Given the description of an element on the screen output the (x, y) to click on. 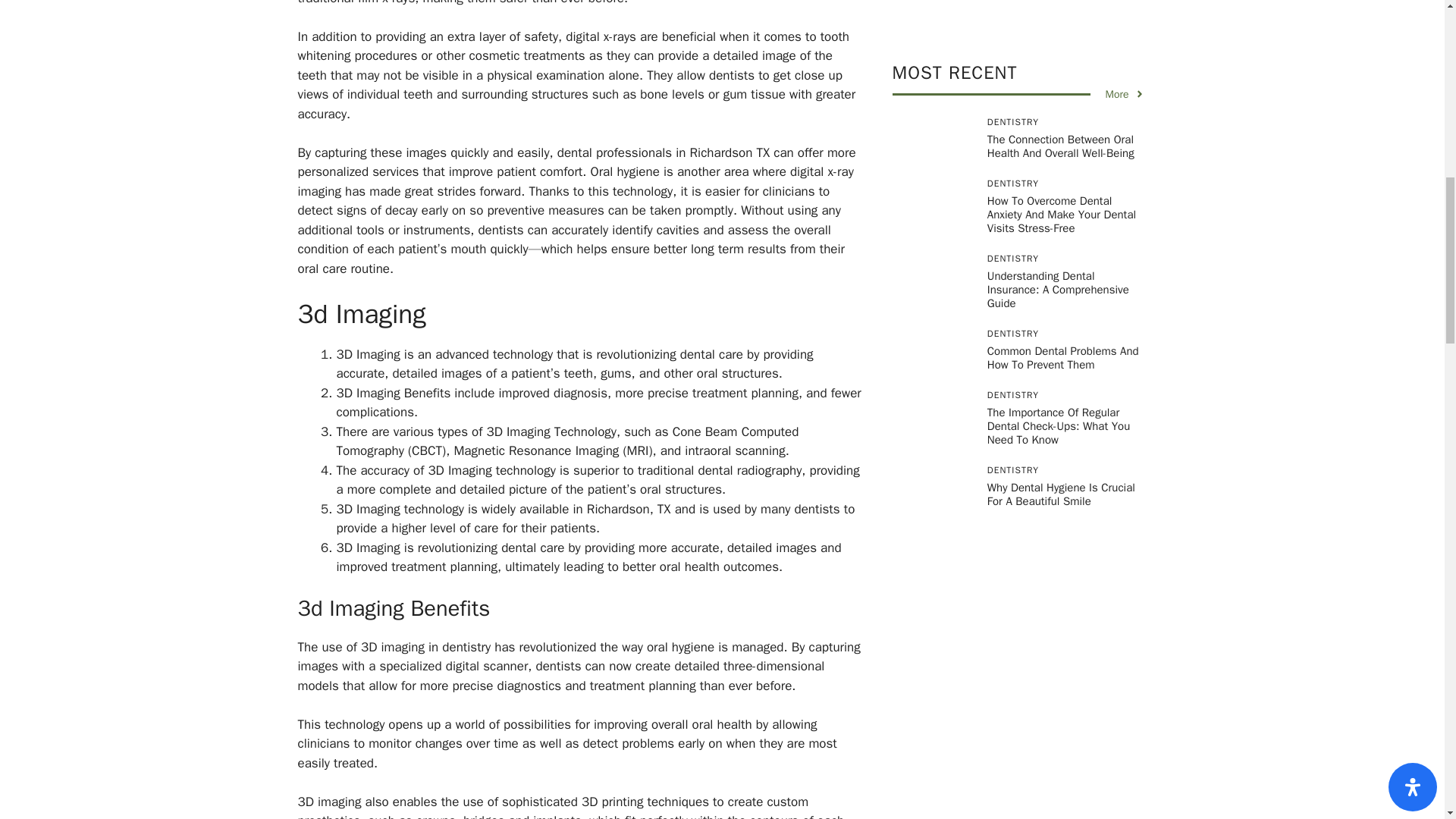
Why Dental Hygiene Is Crucial For A Beautiful Smile (1061, 84)
